Given the description of an element on the screen output the (x, y) to click on. 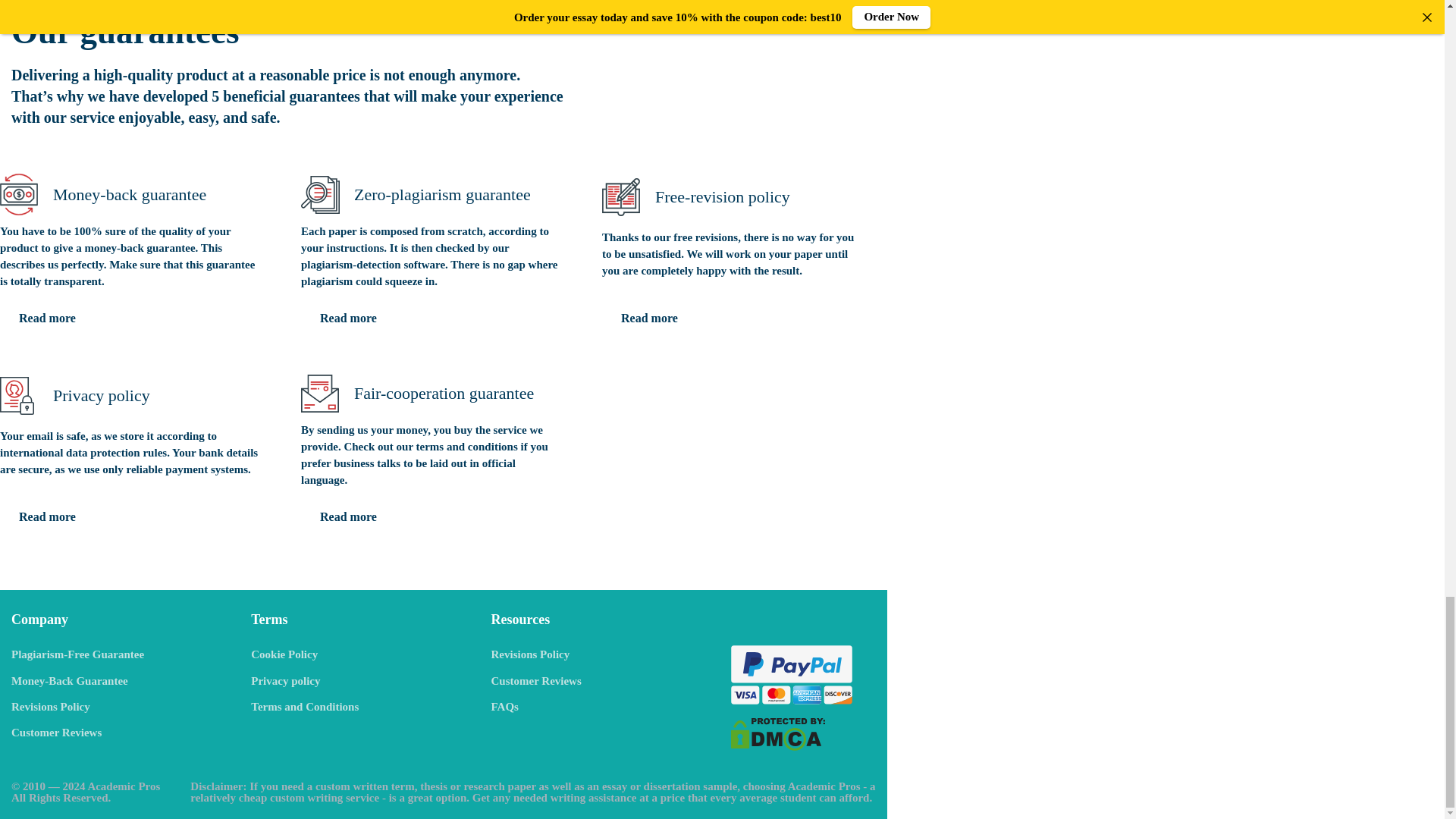
FAQs (505, 706)
Read more (47, 318)
Money-Back Guarantee (69, 680)
Plagiarism-Free Guarantee (77, 654)
Privacy policy (285, 680)
Read more (348, 318)
Revisions Policy (50, 706)
Read more (47, 517)
Cookie Policy (283, 654)
Customer Reviews (536, 680)
Revisions Policy (531, 654)
Read more (348, 517)
Read more (649, 318)
Terms and Conditions (304, 706)
Customer Reviews (56, 732)
